Given the description of an element on the screen output the (x, y) to click on. 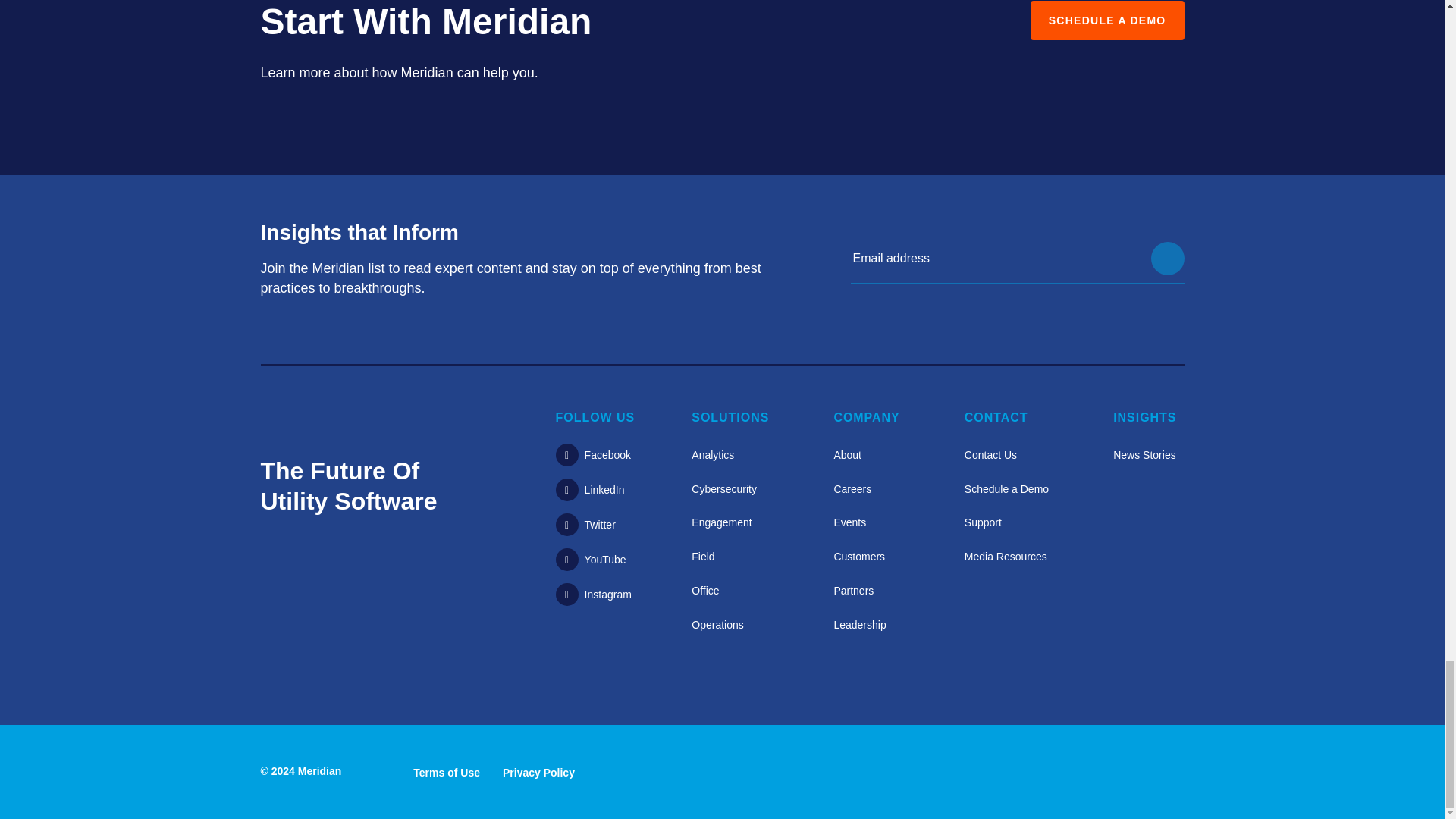
Sign up (1168, 258)
Sign up (1168, 258)
SCHEDULE A DEMO (1107, 20)
LinkedIn (590, 490)
Facebook (593, 454)
